Given the description of an element on the screen output the (x, y) to click on. 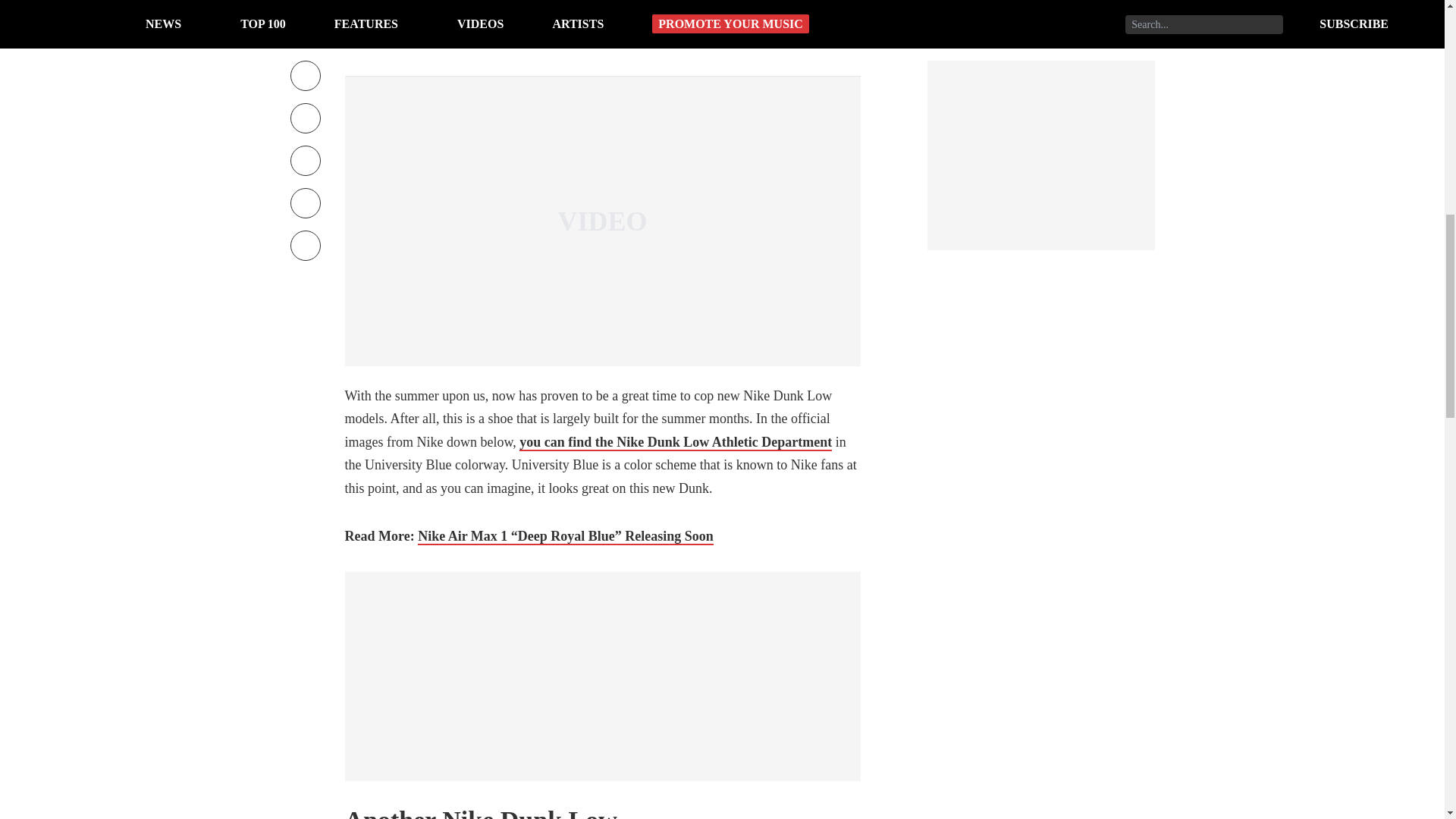
you can find the Nike Dunk Low Athletic Department (675, 442)
fans continue to open their wallets (591, 29)
